Given the description of an element on the screen output the (x, y) to click on. 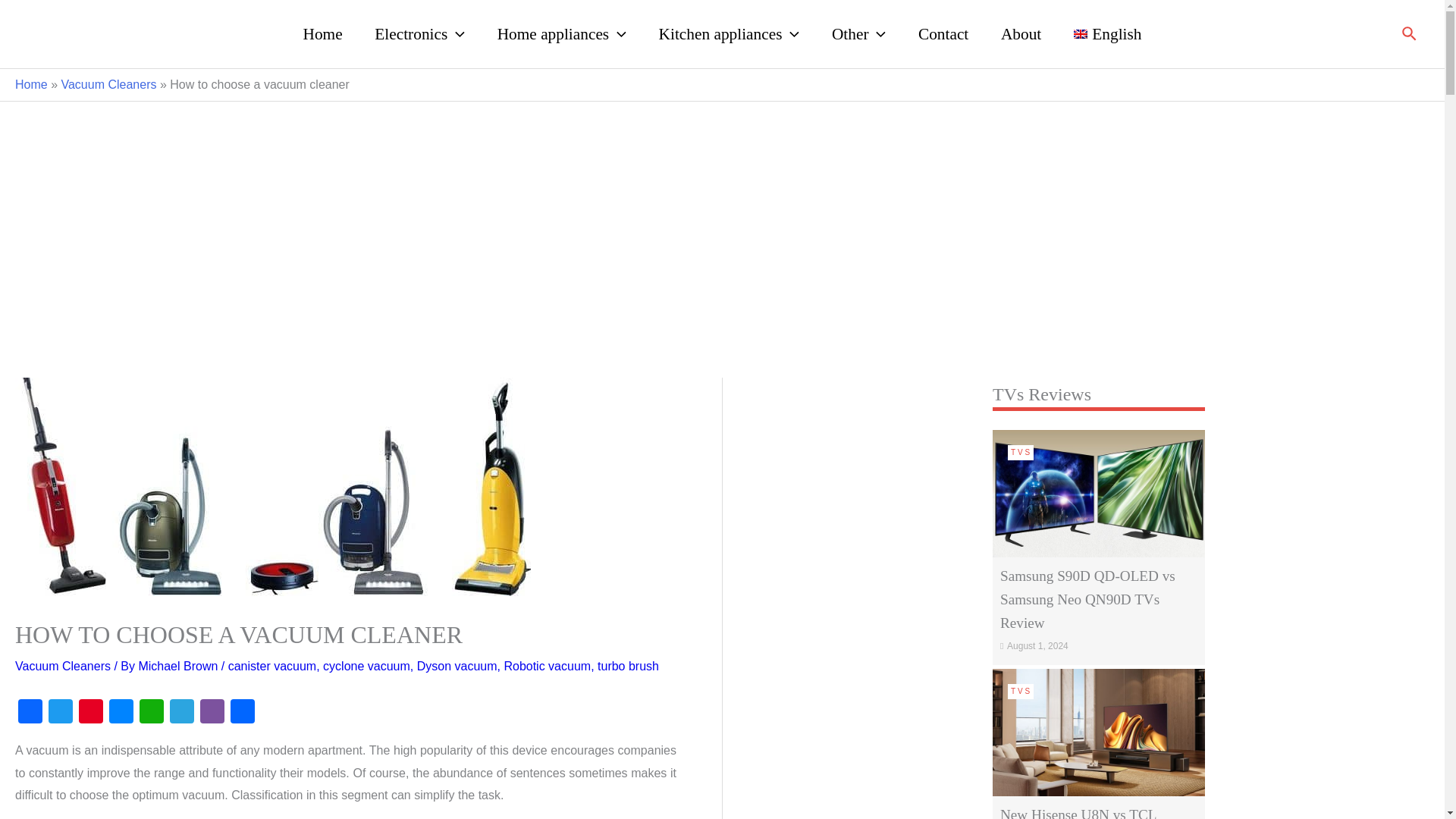
Electronics (419, 33)
Kitchen appliances (728, 33)
Viber (211, 713)
Telegram (181, 713)
English (1107, 33)
WhatsApp (151, 713)
Twitter (60, 713)
Home appliances (561, 33)
Messenger (121, 713)
Home (322, 33)
